Given the description of an element on the screen output the (x, y) to click on. 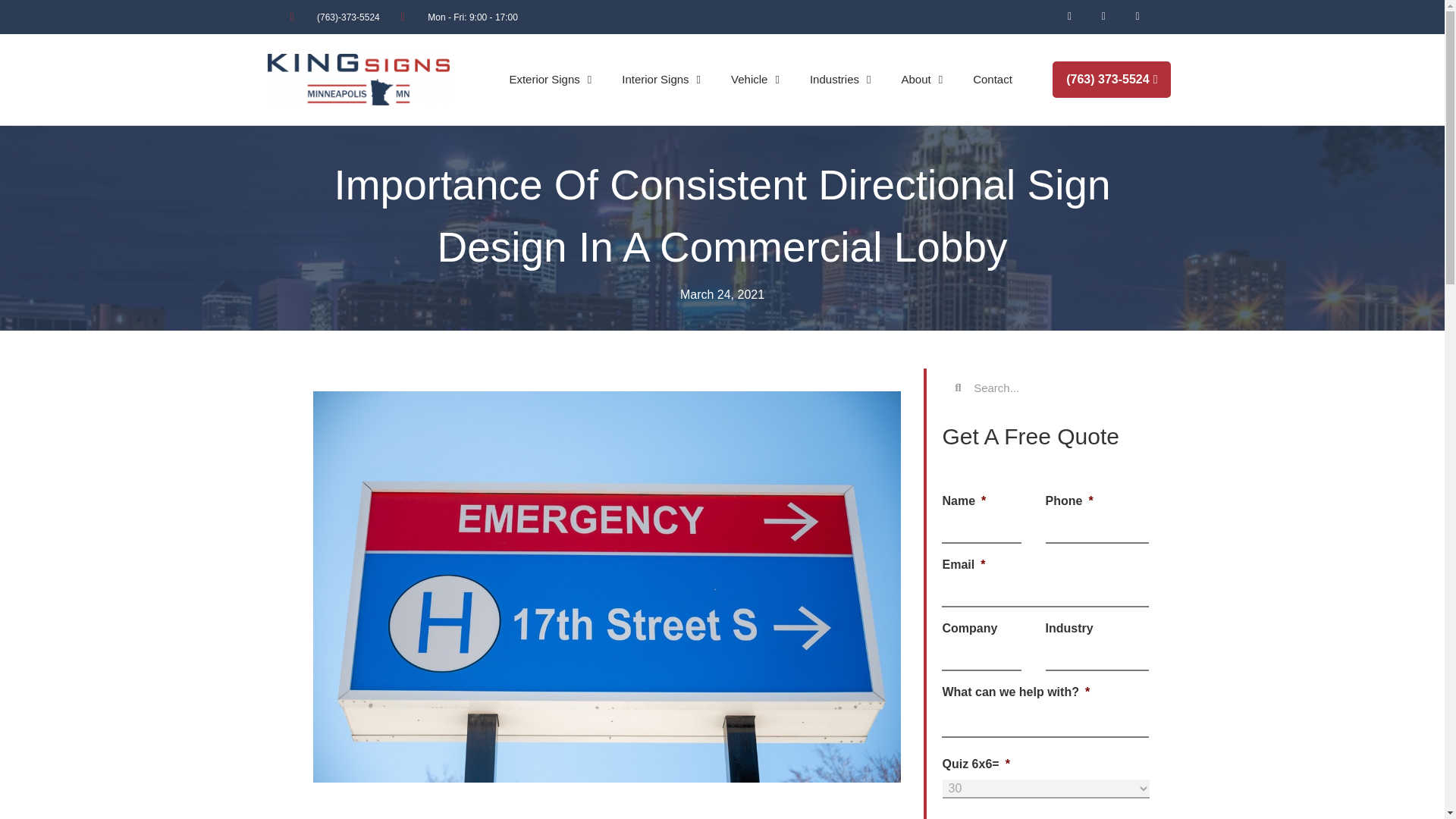
Exterior Signs (550, 79)
Search (1054, 387)
Industries (840, 79)
Interior Signs (661, 79)
